Given the description of an element on the screen output the (x, y) to click on. 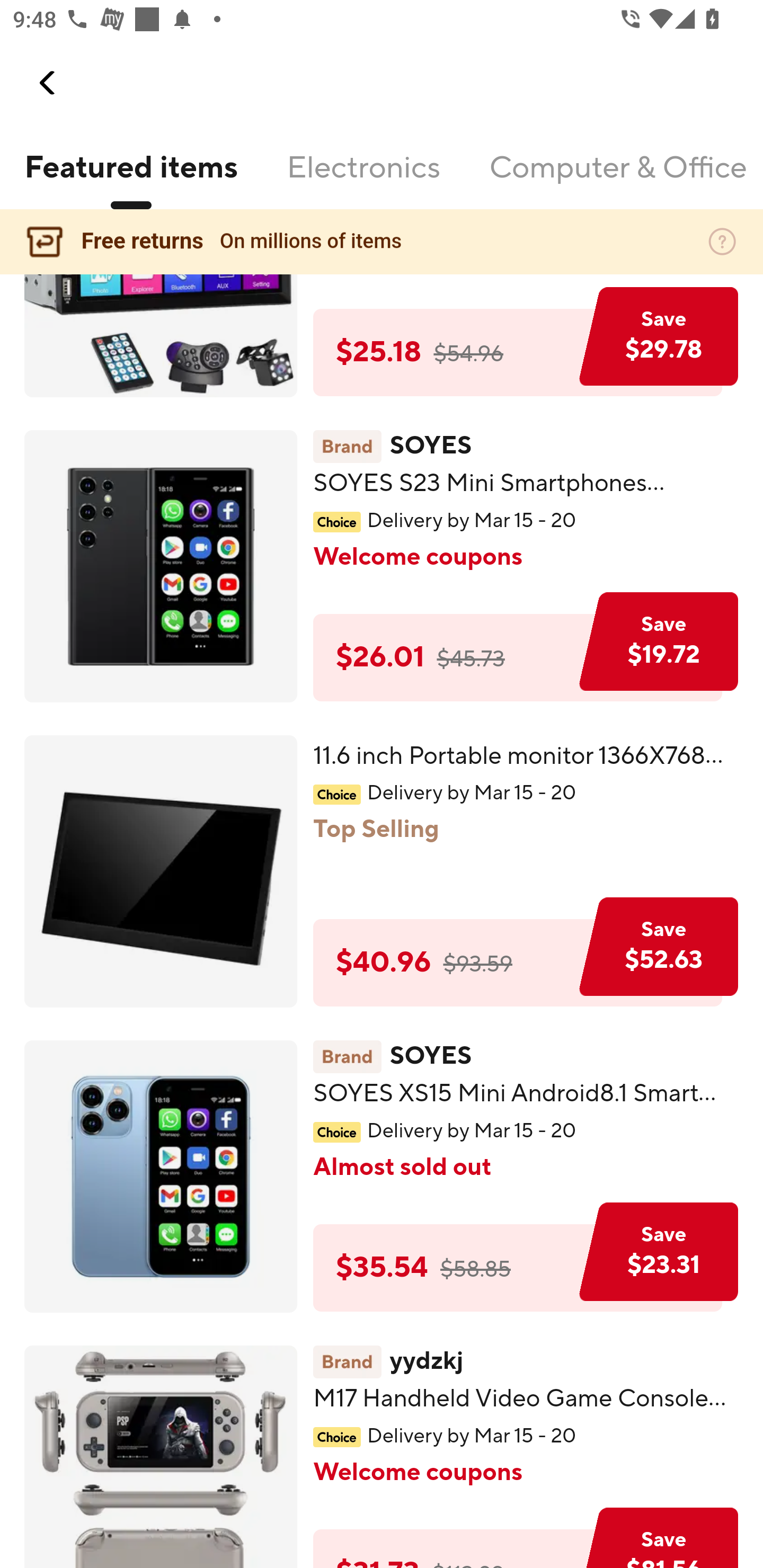
 (48, 82)
Featured items (130, 178)
Electronics (363, 178)
Computer & Office (617, 178)
